Given the description of an element on the screen output the (x, y) to click on. 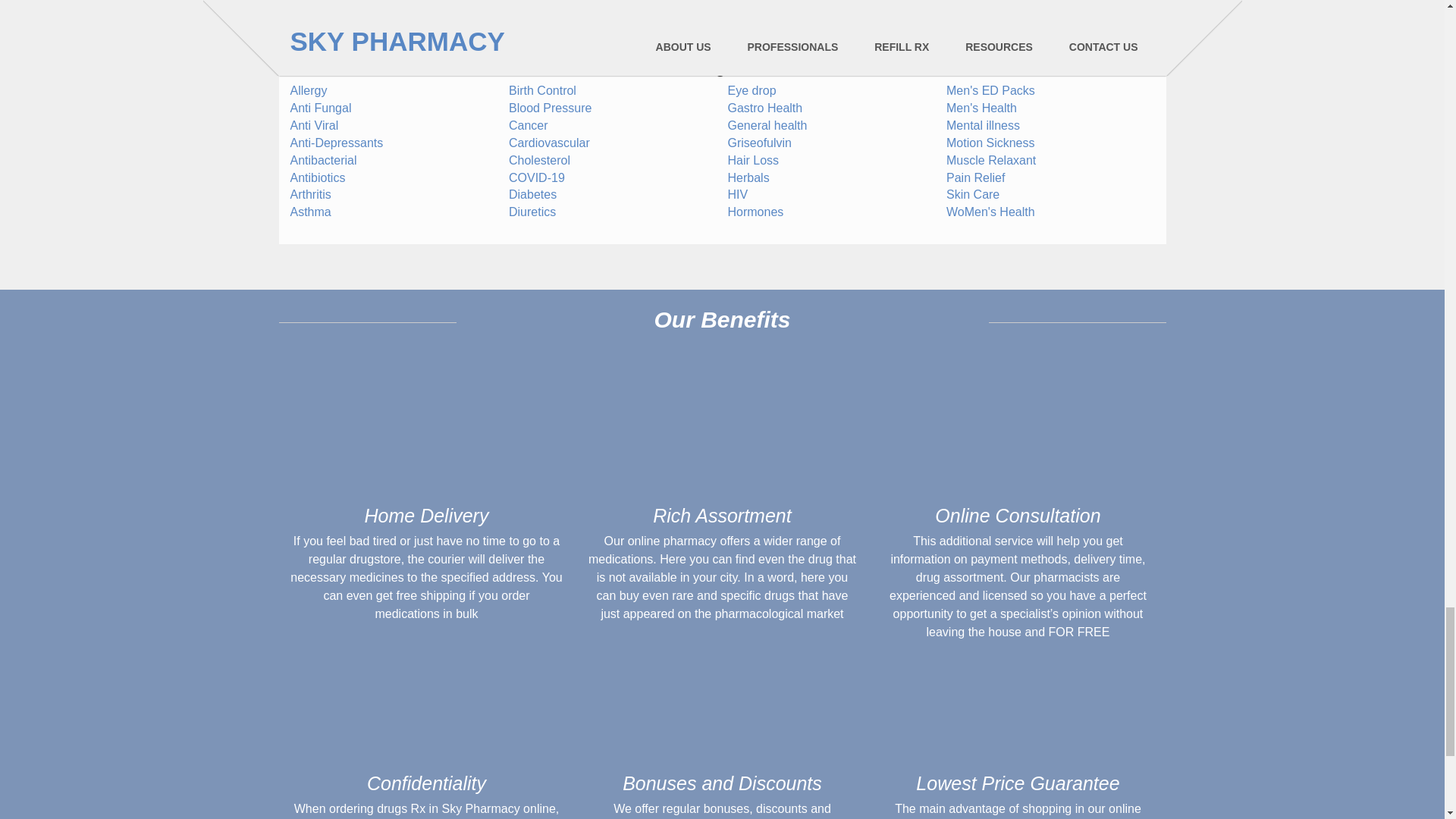
Blood Pressure (549, 107)
Diabetes (532, 194)
COVID-19 (536, 177)
Hormones (756, 211)
Griseofulvin (760, 142)
Anti-Depressants (335, 142)
Herbals (749, 177)
Hair Loss (753, 160)
General health (768, 124)
Cardiovascular (548, 142)
